Given the description of an element on the screen output the (x, y) to click on. 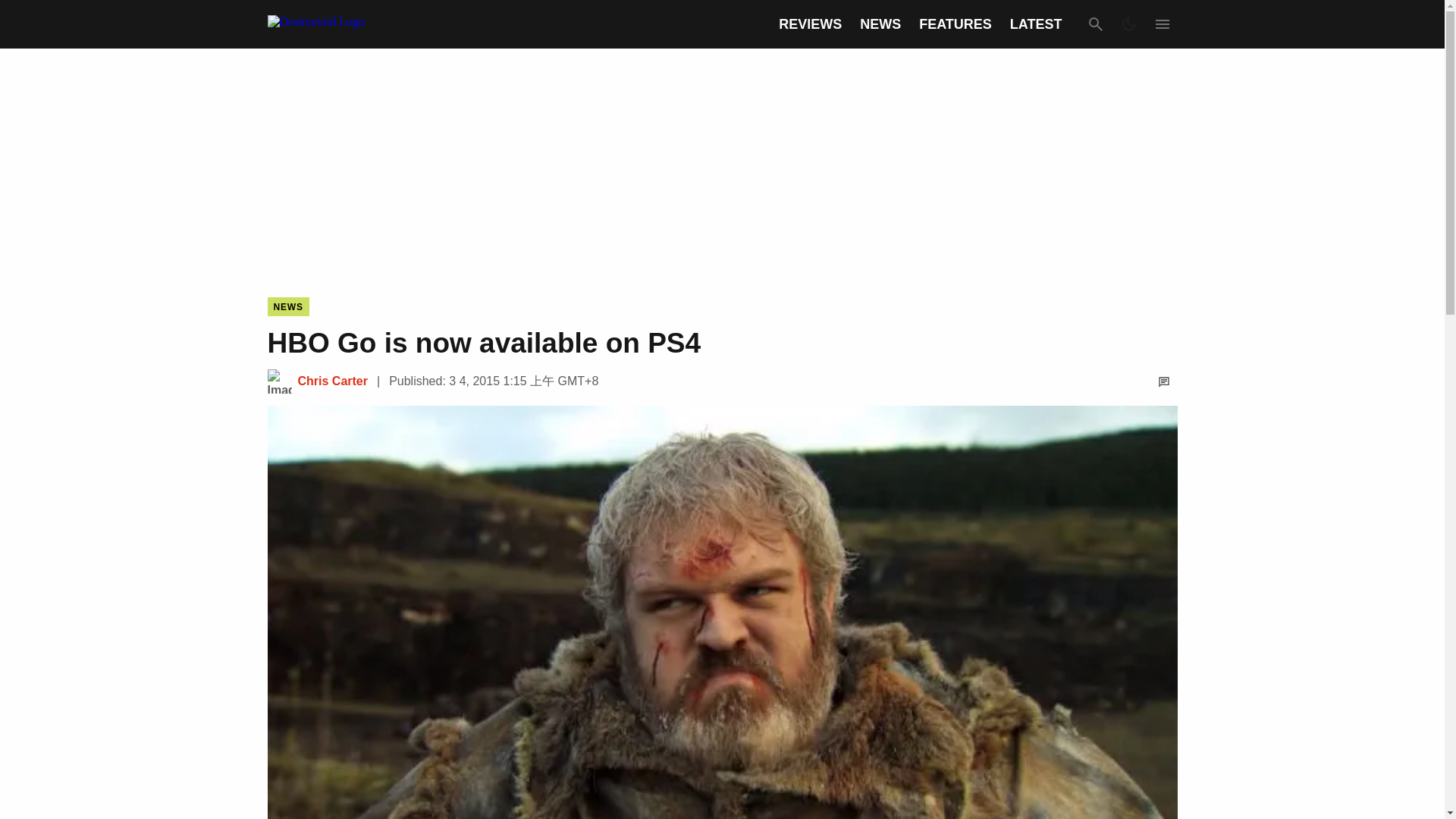
NEWS (287, 306)
Search (1094, 24)
Dark Mode (1127, 24)
REVIEWS (809, 23)
LATEST (1036, 23)
Expand Menu (1161, 24)
NEWS (880, 23)
FEATURES (954, 23)
